Given the description of an element on the screen output the (x, y) to click on. 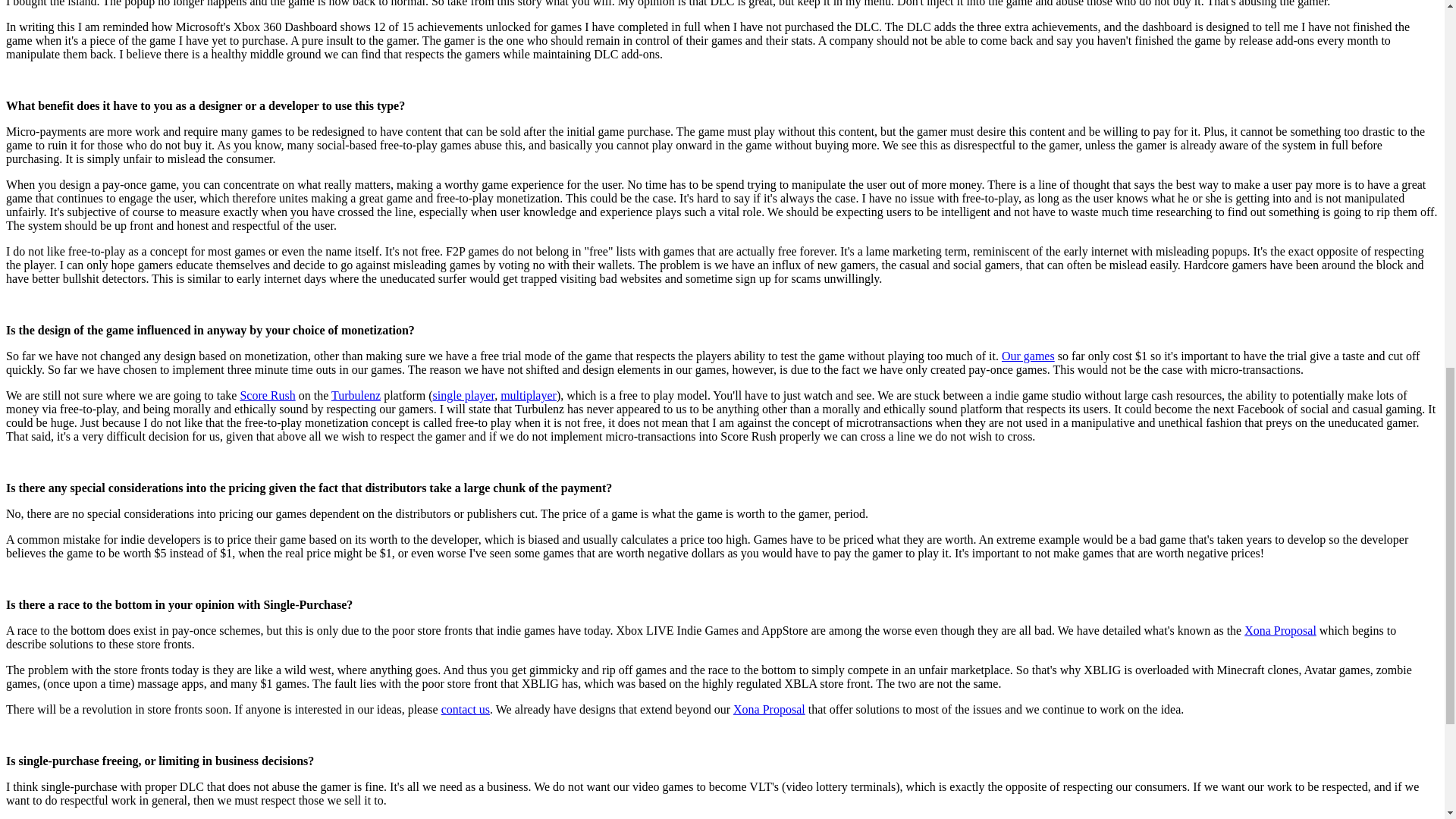
multiplayer (528, 395)
Xona Proposal (1280, 630)
single player (463, 395)
Xona Proposal (769, 708)
Our games (1027, 355)
contact us (465, 708)
Turbulenz (355, 395)
Score Rush (267, 395)
